Given the description of an element on the screen output the (x, y) to click on. 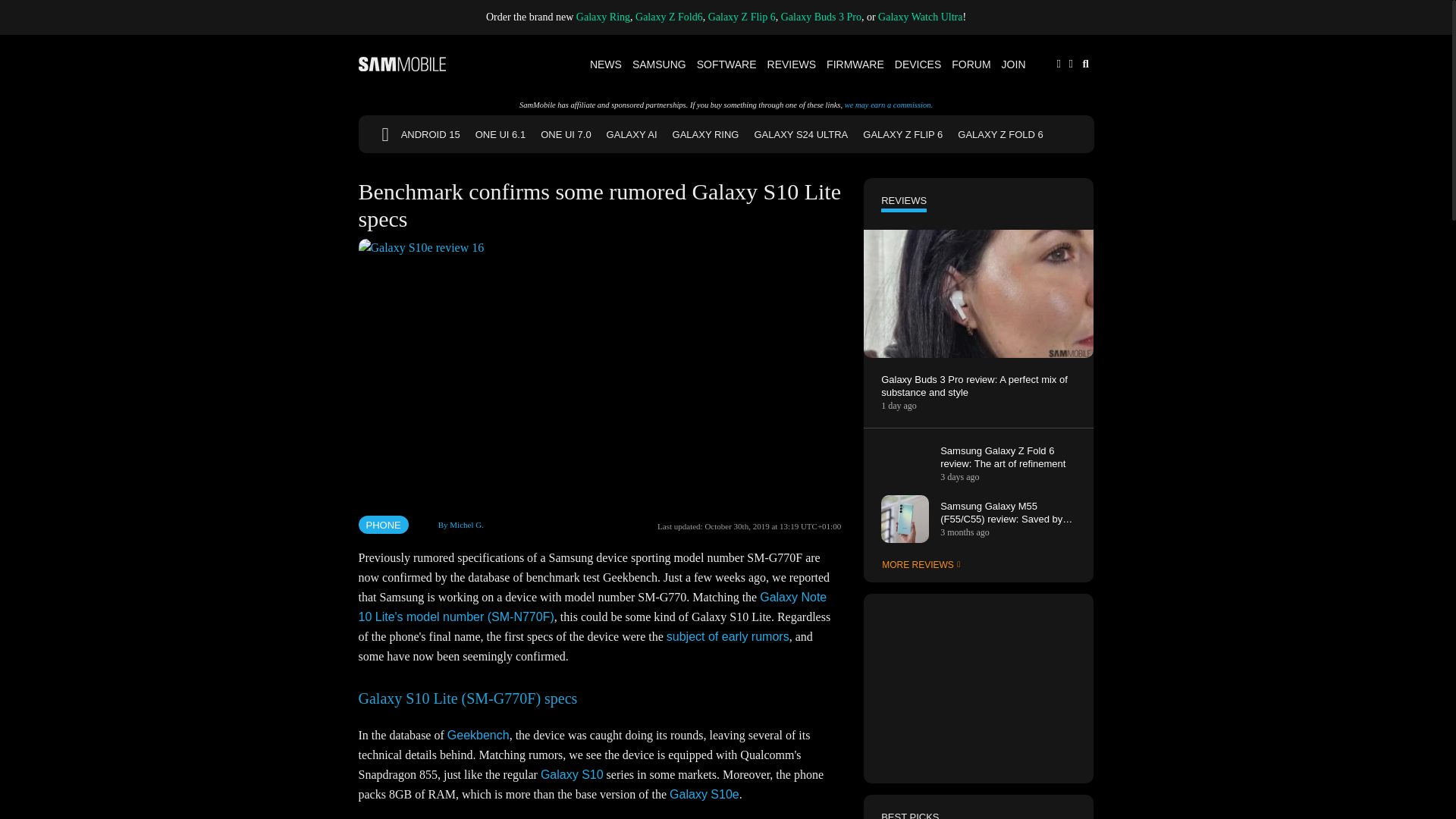
SamMobile logo (401, 63)
Galaxy Ring (603, 16)
Samsung (659, 64)
Galaxy Z Fold6 (668, 16)
Galaxy Watch Ultra (919, 16)
Galaxy Z Flip 6 (741, 16)
SAMSUNG (659, 64)
Galaxy Buds 3 Pro (820, 16)
